Given the description of an element on the screen output the (x, y) to click on. 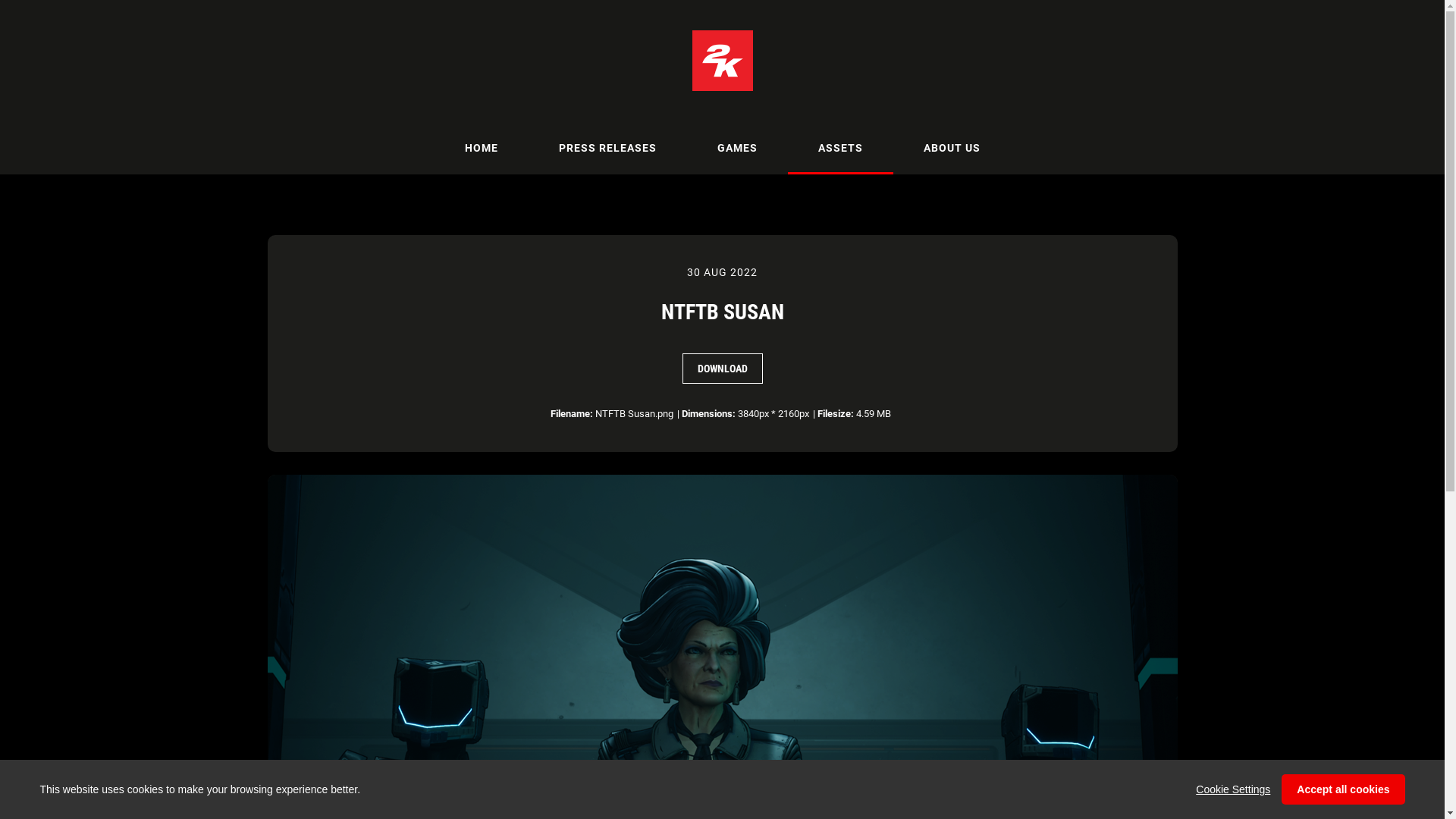
DOWNLOAD Element type: text (722, 368)
PRESS RELEASES Element type: text (606, 147)
ASSETS Element type: text (839, 147)
ABOUT US Element type: text (951, 147)
HOME Element type: text (480, 147)
Cookie Settings Element type: text (1232, 789)
Accept all cookies Element type: text (1342, 789)
GAMES Element type: text (737, 147)
